Given the description of an element on the screen output the (x, y) to click on. 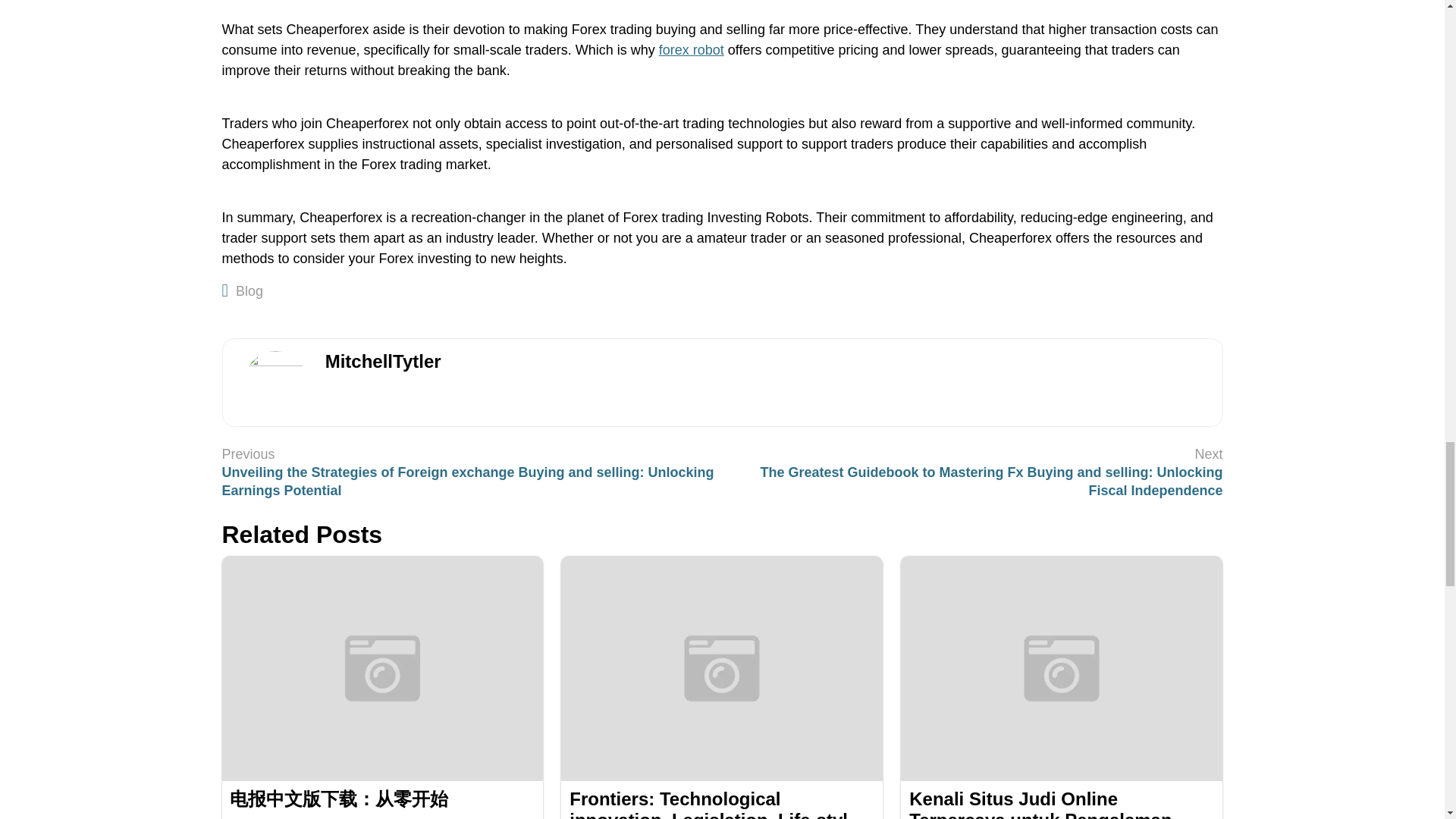
forex robot (691, 49)
Blog (249, 290)
